Given the description of an element on the screen output the (x, y) to click on. 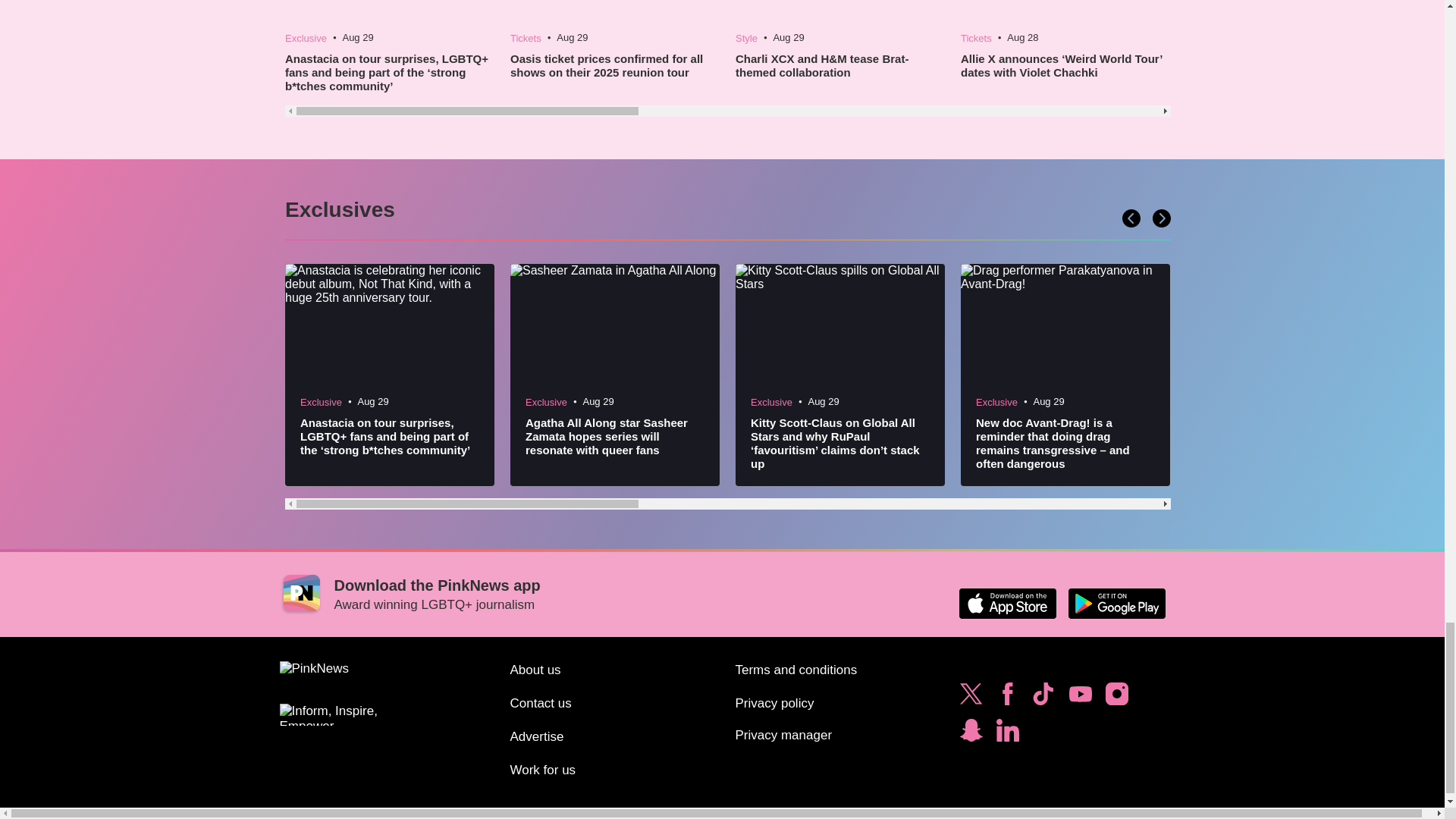
Follow PinkNews on TikTok (1042, 697)
Follow PinkNews on Twitter (970, 697)
Follow PinkNews on Instagram (1116, 697)
Subscribe to PinkNews on Snapchat (970, 733)
Download the PinkNews app on the Apple App Store (1006, 603)
Follow PinkNews on LinkedIn (1007, 733)
Subscribe to PinkNews on YouTube (1079, 697)
Download the PinkNews app on Google Play (1115, 603)
